Given the description of an element on the screen output the (x, y) to click on. 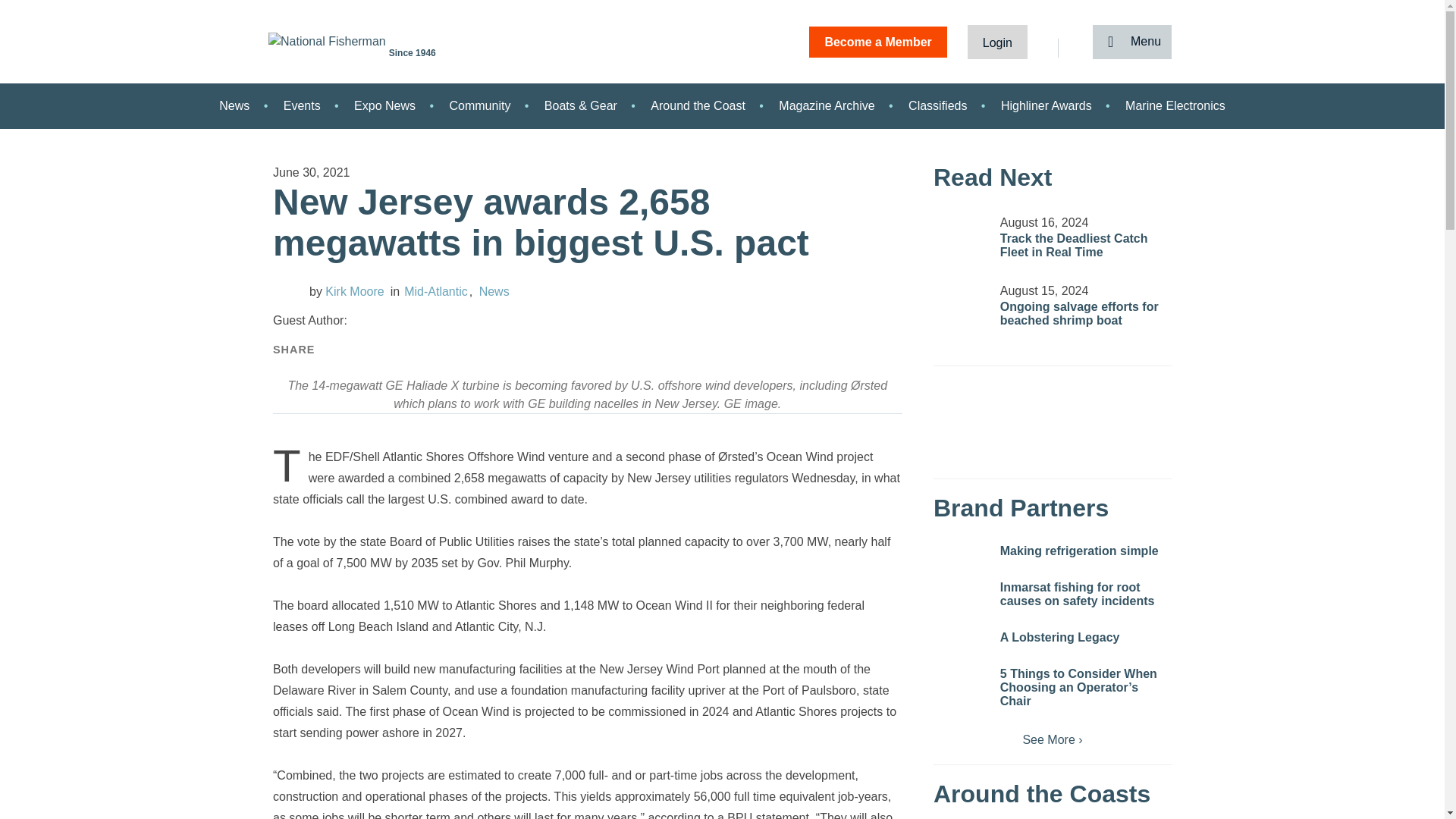
National Fisherman (329, 41)
Become a Member (877, 41)
Login (997, 41)
Kirk Moore (346, 291)
Kirk Moore (287, 291)
